Given the description of an element on the screen output the (x, y) to click on. 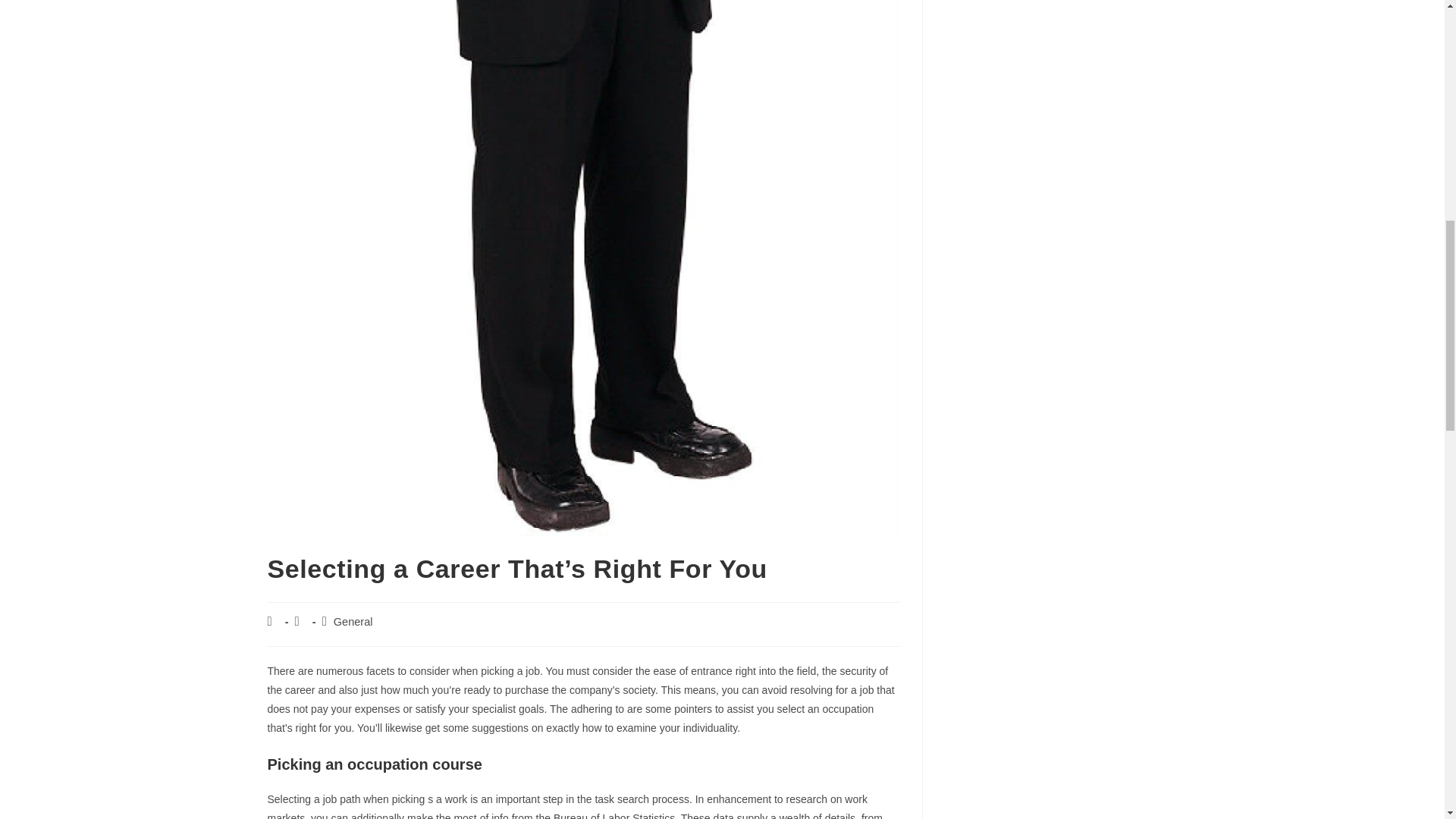
General (352, 621)
